Given the description of an element on the screen output the (x, y) to click on. 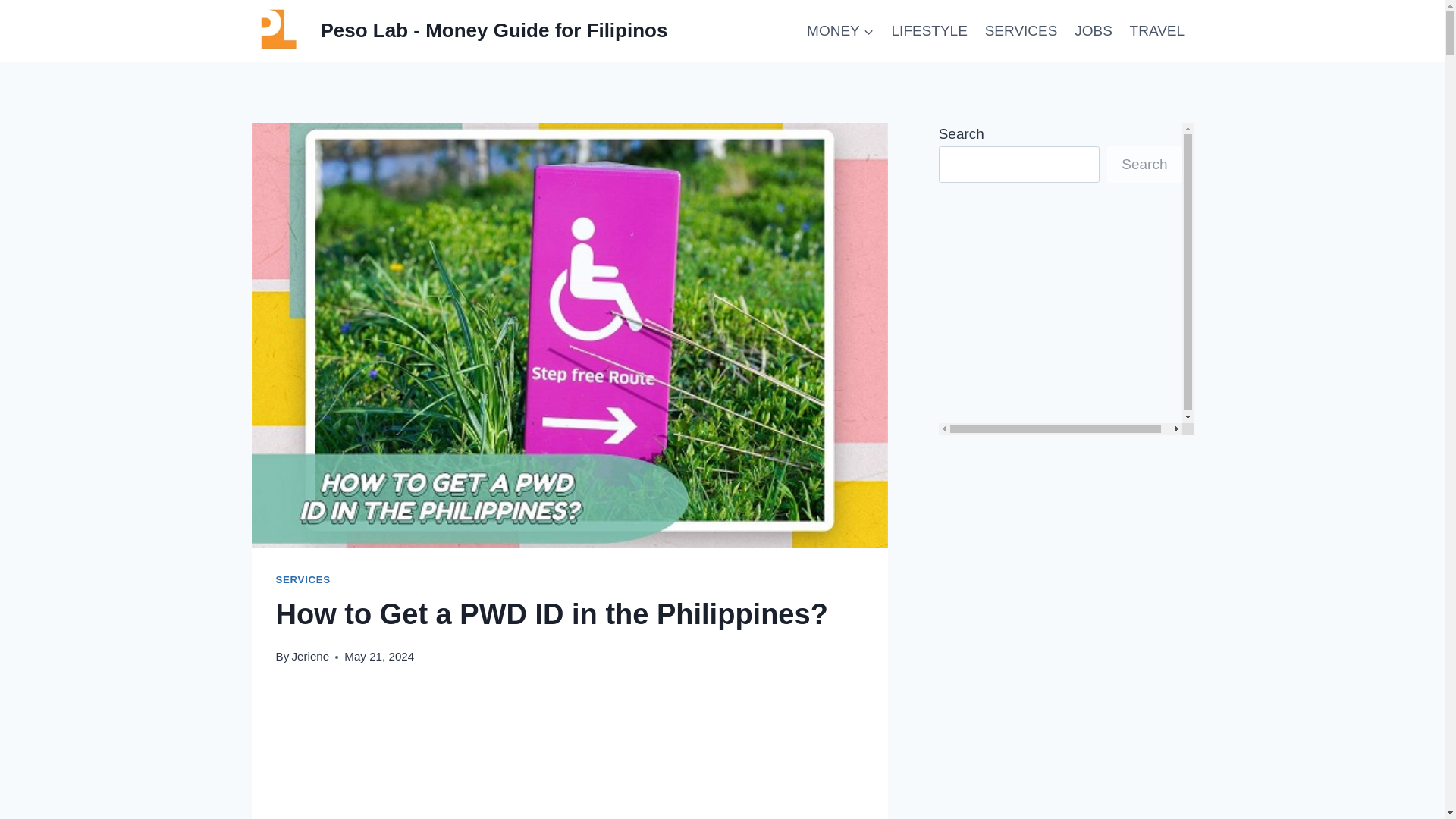
JOBS (1093, 30)
Jeriene (310, 656)
MONEY (839, 30)
SERVICES (1020, 30)
SERVICES (303, 579)
LIFESTYLE (928, 30)
TRAVEL (1156, 30)
Peso Lab - Money Guide for Filipinos (459, 31)
Advertisement (570, 755)
Advertisement (1066, 310)
